Given the description of an element on the screen output the (x, y) to click on. 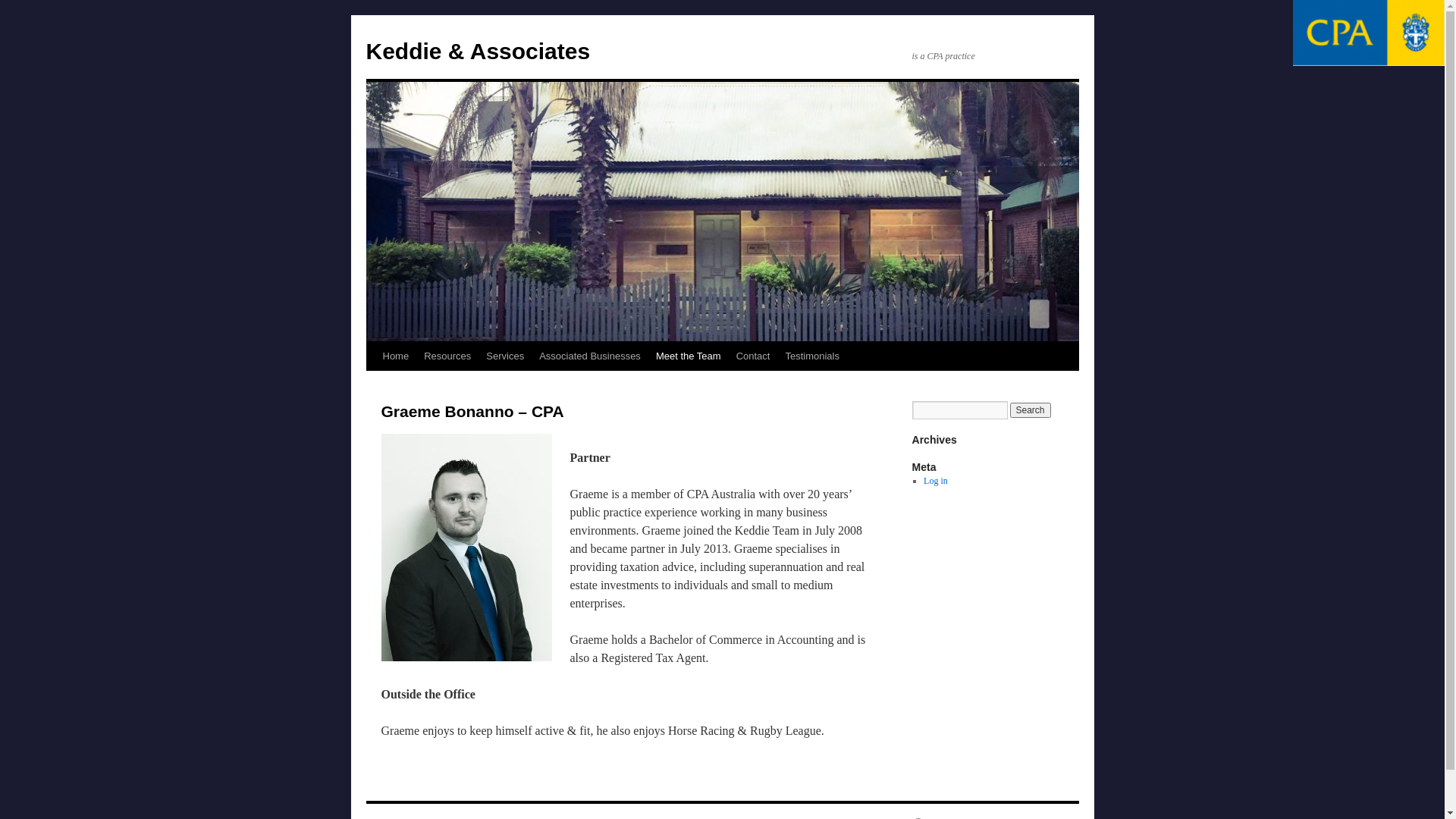
Contact Element type: text (753, 356)
Search Element type: text (1030, 409)
Meet the Team Element type: text (688, 356)
Services Element type: text (504, 356)
Keddie & Associates Element type: text (477, 50)
Home Element type: text (395, 356)
Testimonials Element type: text (812, 356)
Associated Businesses Element type: text (589, 356)
Resources Element type: text (447, 356)
Skip to content Element type: text (372, 385)
Log in Element type: text (935, 480)
